Given the description of an element on the screen output the (x, y) to click on. 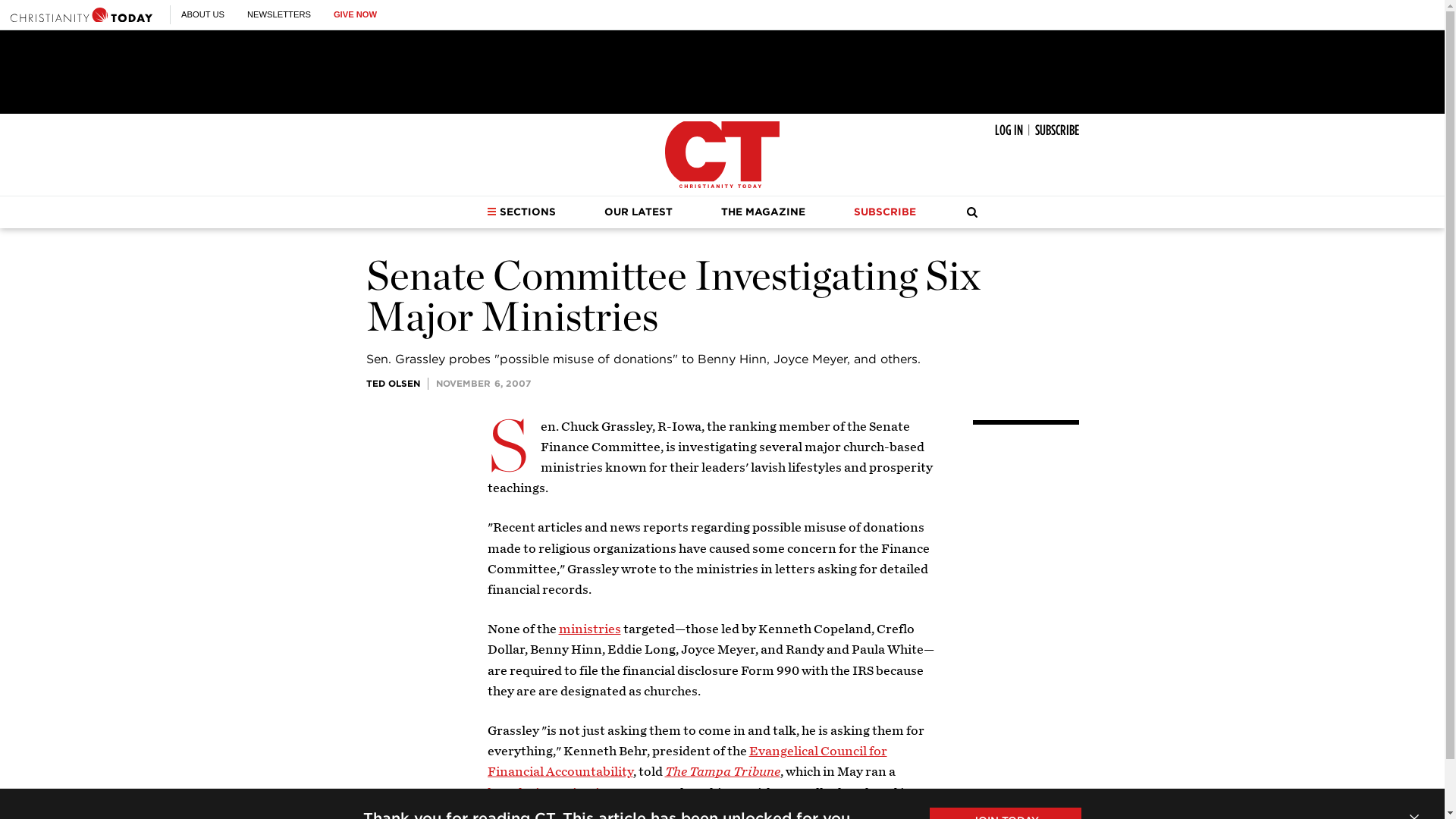
SUBSCRIBE (1055, 130)
NEWSLETTERS (278, 14)
GIVE NOW (355, 14)
Christianity Today (81, 14)
Sections Dropdown (491, 211)
SECTIONS (521, 212)
3rd party ad content (721, 71)
LOG IN (1008, 130)
Christianity Today (721, 154)
ABOUT US (202, 14)
